Given the description of an element on the screen output the (x, y) to click on. 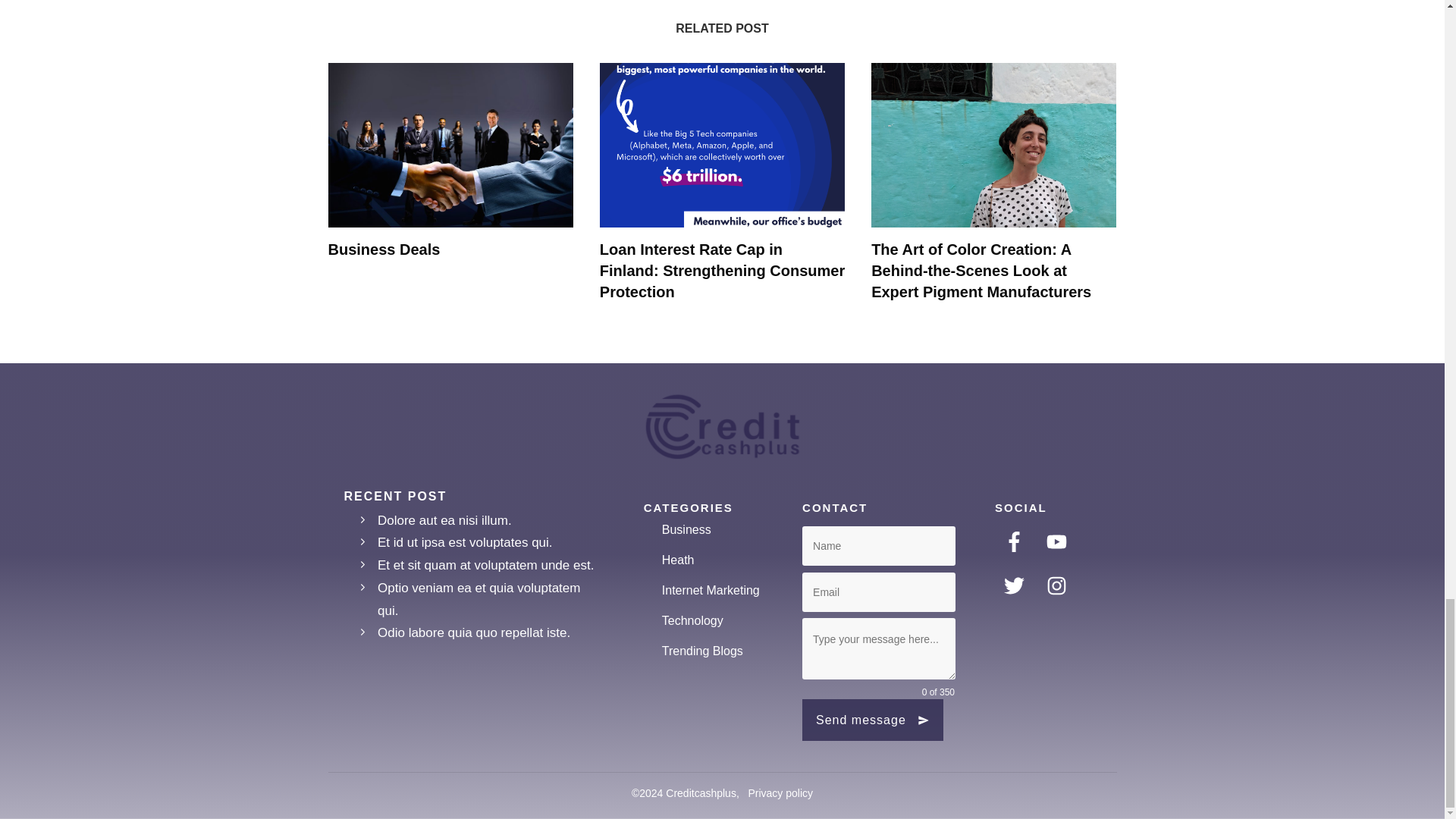
Business Deals (383, 248)
